Given the description of an element on the screen output the (x, y) to click on. 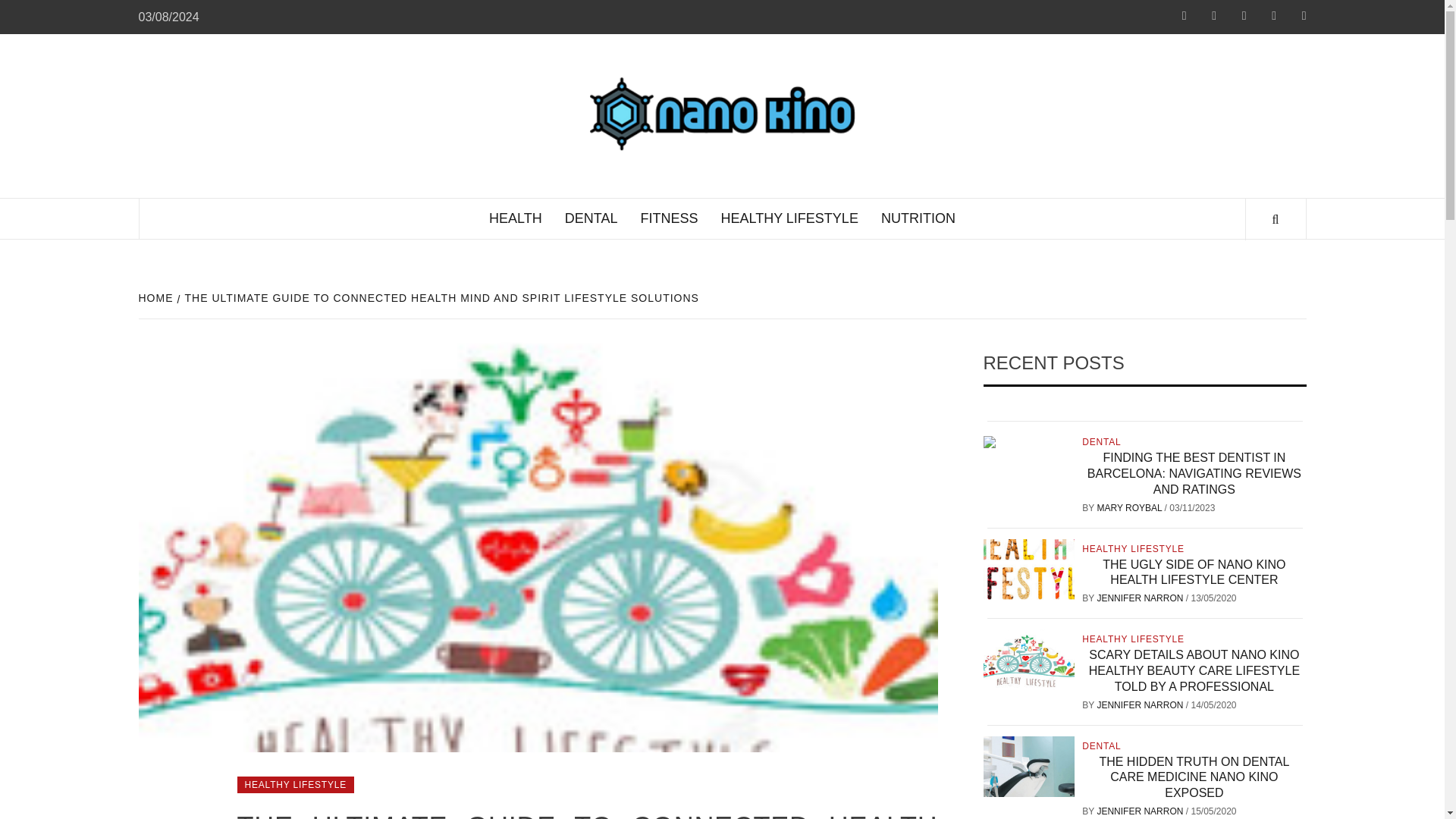
HEALTHY LIFESTYLE (294, 784)
JENNIFER NARRON (1140, 705)
HEALTHY LIFESTYLE (1134, 638)
FITNESS (668, 219)
HOME (157, 297)
JENNIFER NARRON (1140, 597)
HEALTHY LIFESTYLE (1134, 548)
HEALTHY LIFESTYLE (789, 219)
NANO KINO (961, 95)
THE UGLY SIDE OF NANO KINO HEALTH LIFESTYLE CENTER (1193, 572)
MARY ROYBAL (1129, 507)
NUTRITION (917, 219)
